Given the description of an element on the screen output the (x, y) to click on. 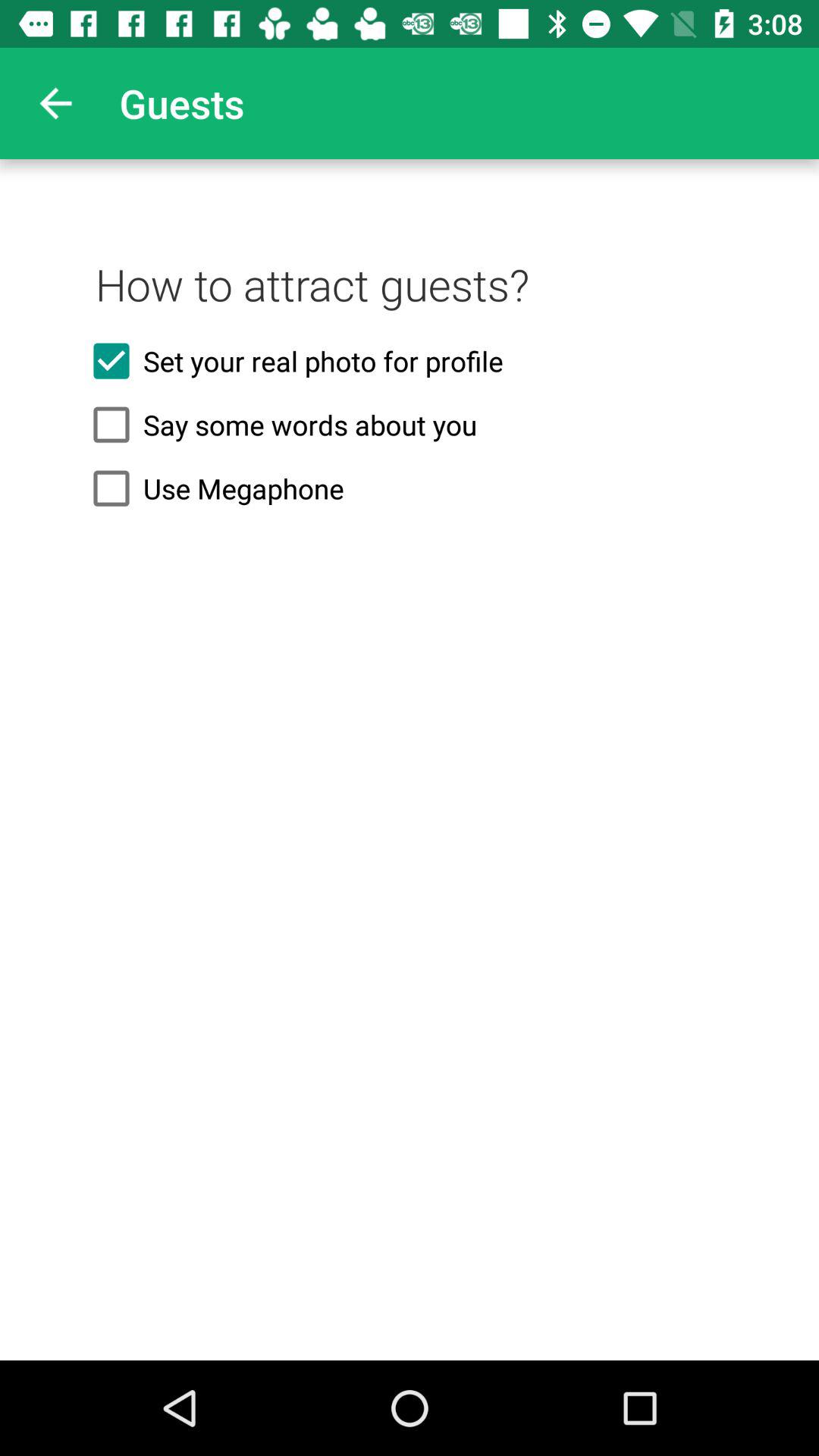
turn on item below set your real (409, 424)
